Given the description of an element on the screen output the (x, y) to click on. 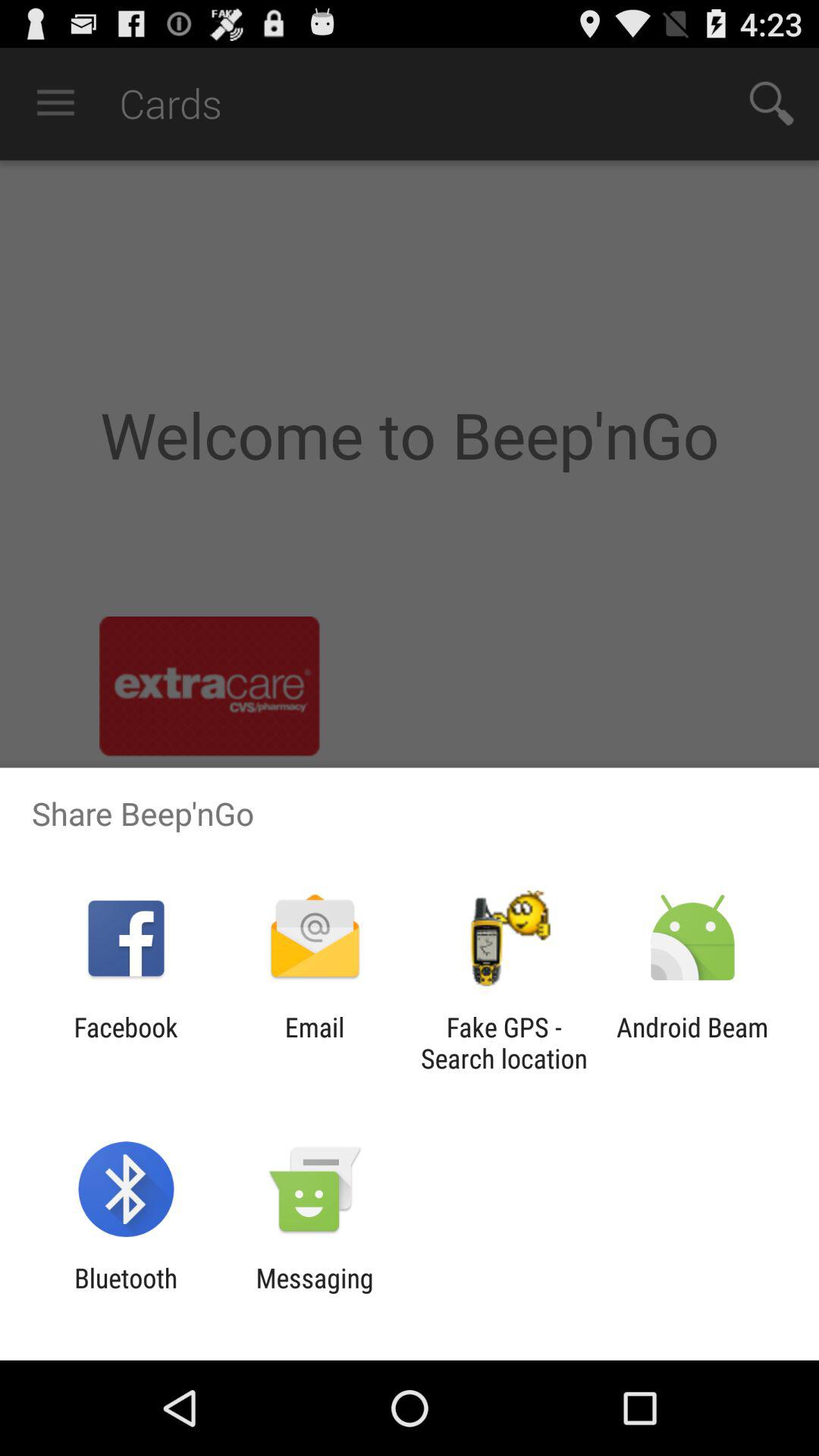
turn on item to the left of messaging item (125, 1293)
